Given the description of an element on the screen output the (x, y) to click on. 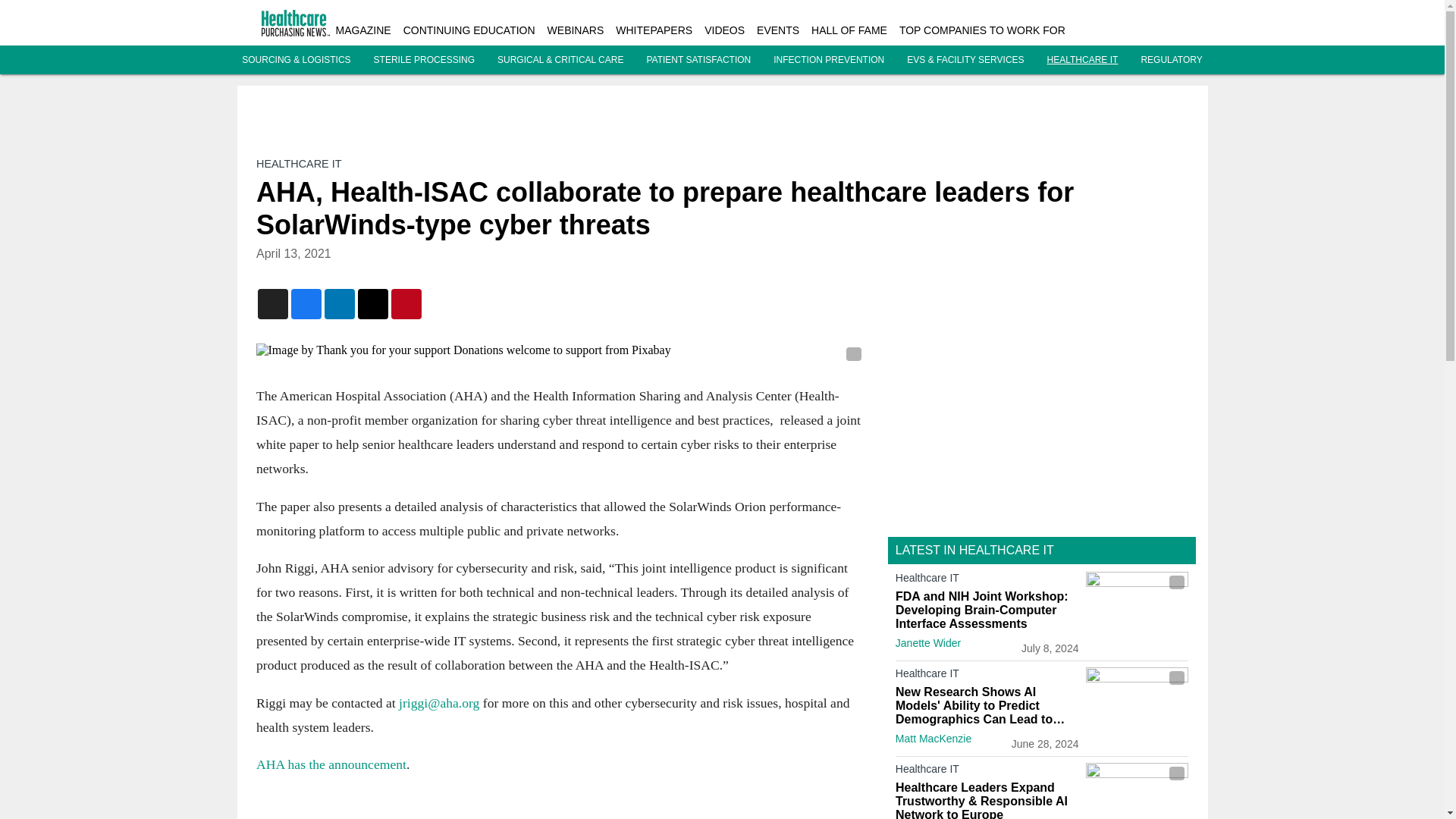
Healthcare IT (986, 771)
HALL OF FAME (848, 30)
Healthcare IT (986, 676)
CONTINUING EDUCATION (469, 30)
REGULATORY (1171, 59)
WEBINARS (575, 30)
Healthcare IT (986, 580)
HEALTHCARE IT (1082, 59)
INFECTION PREVENTION (828, 59)
STERILE PROCESSING (424, 59)
TOP COMPANIES TO WORK FOR (982, 30)
MAGAZINE (362, 30)
HEALTHCARE IT (298, 163)
VIDEOS (724, 30)
